Given the description of an element on the screen output the (x, y) to click on. 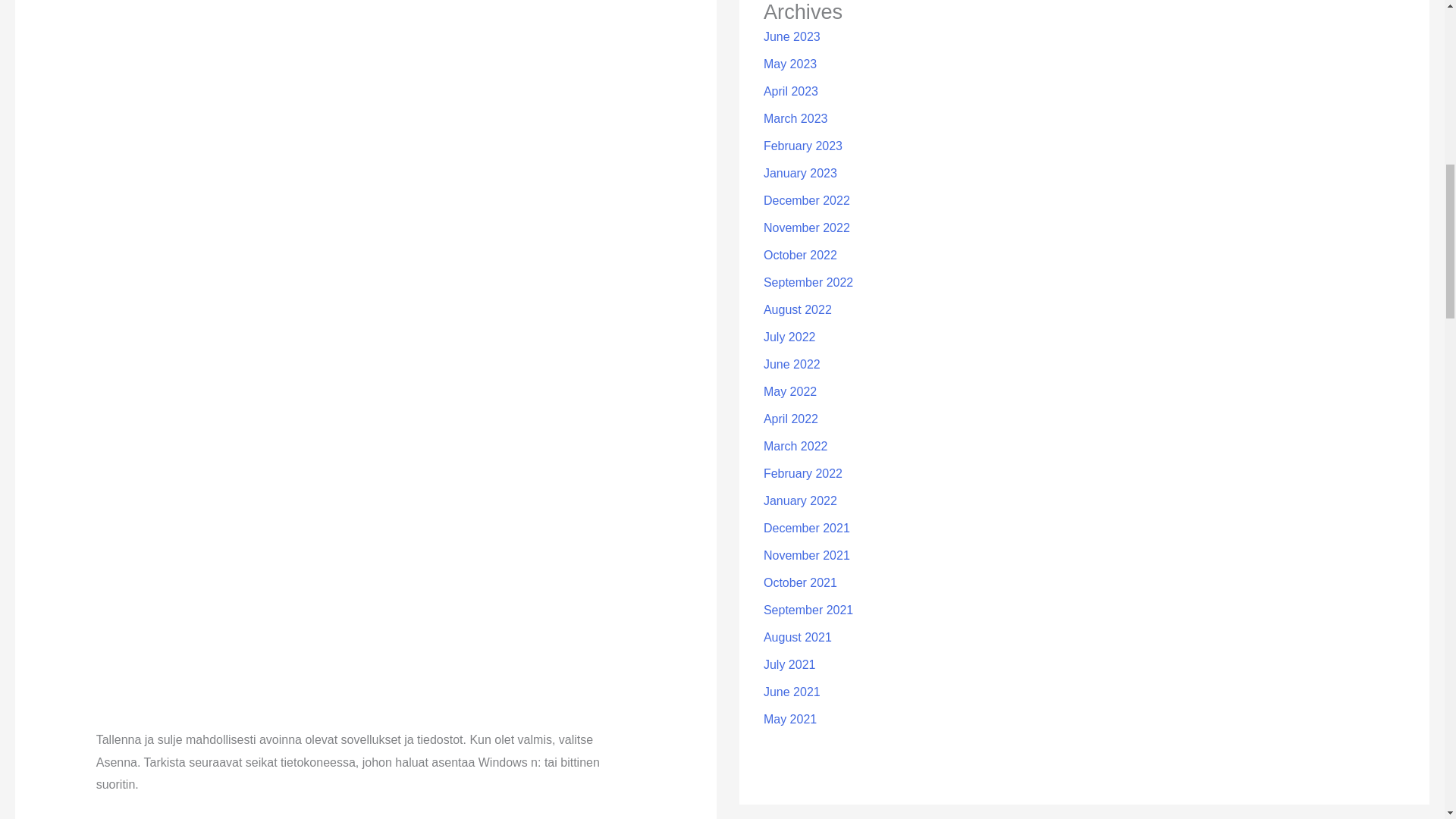
March 2023 (795, 118)
May 2023 (789, 63)
May 2022 (789, 391)
October 2022 (799, 254)
June 2022 (791, 364)
November 2022 (806, 227)
February 2023 (802, 145)
July 2022 (788, 336)
June 2023 (791, 36)
April 2022 (790, 418)
